Given the description of an element on the screen output the (x, y) to click on. 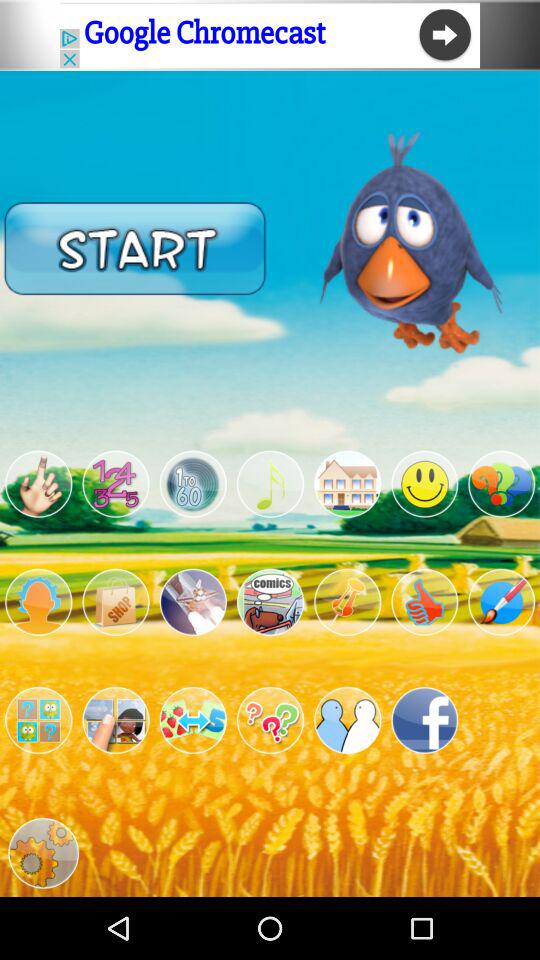
check contacts (347, 720)
